Given the description of an element on the screen output the (x, y) to click on. 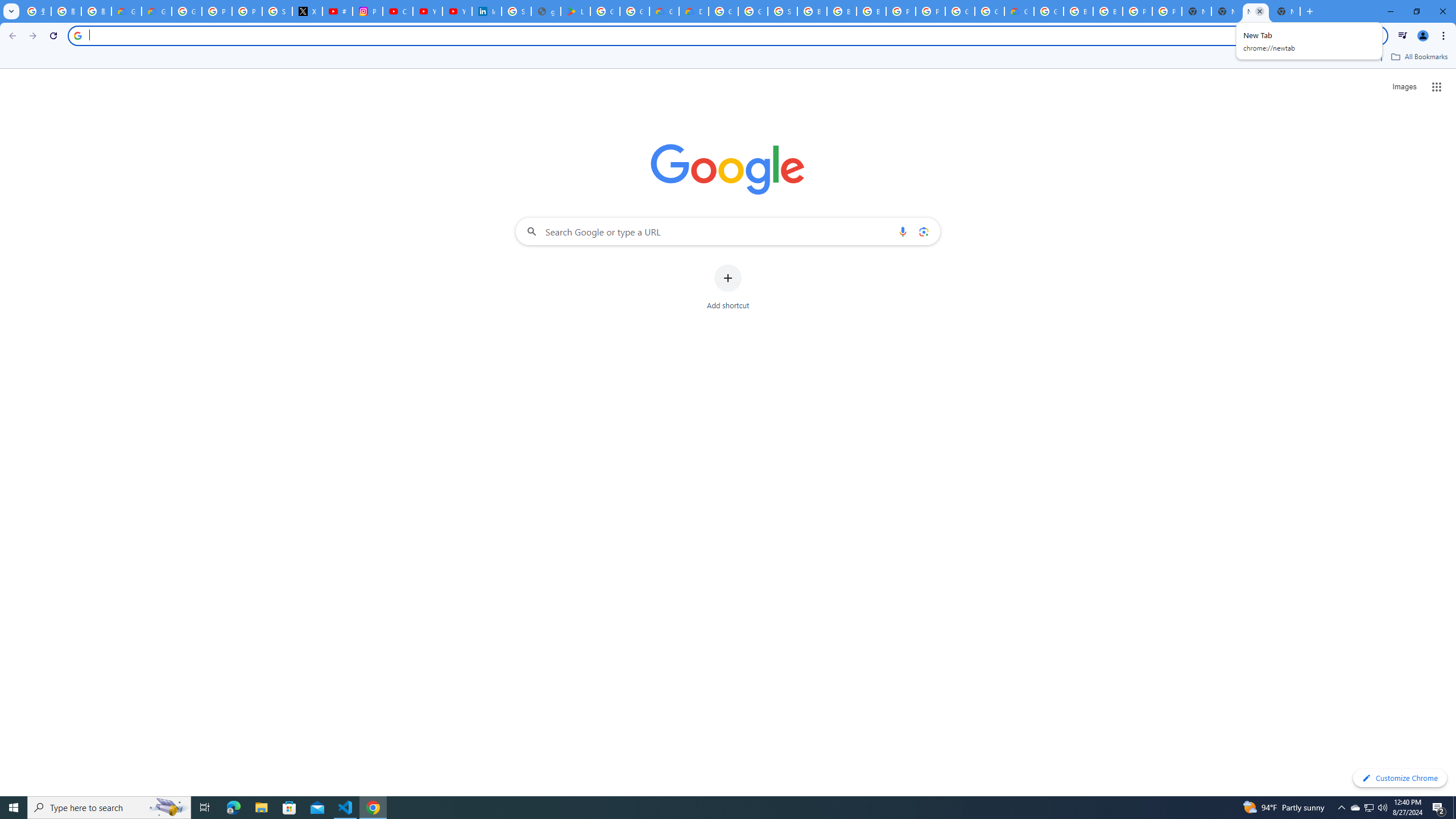
Google Cloud Privacy Notice (156, 11)
Google Cloud Estimate Summary (1018, 11)
Privacy Help Center - Policies Help (247, 11)
Browse Chrome as a guest - Computer - Google Chrome Help (841, 11)
Last Shelter: Survival - Apps on Google Play (575, 11)
Government | Google Cloud (664, 11)
